Given the description of an element on the screen output the (x, y) to click on. 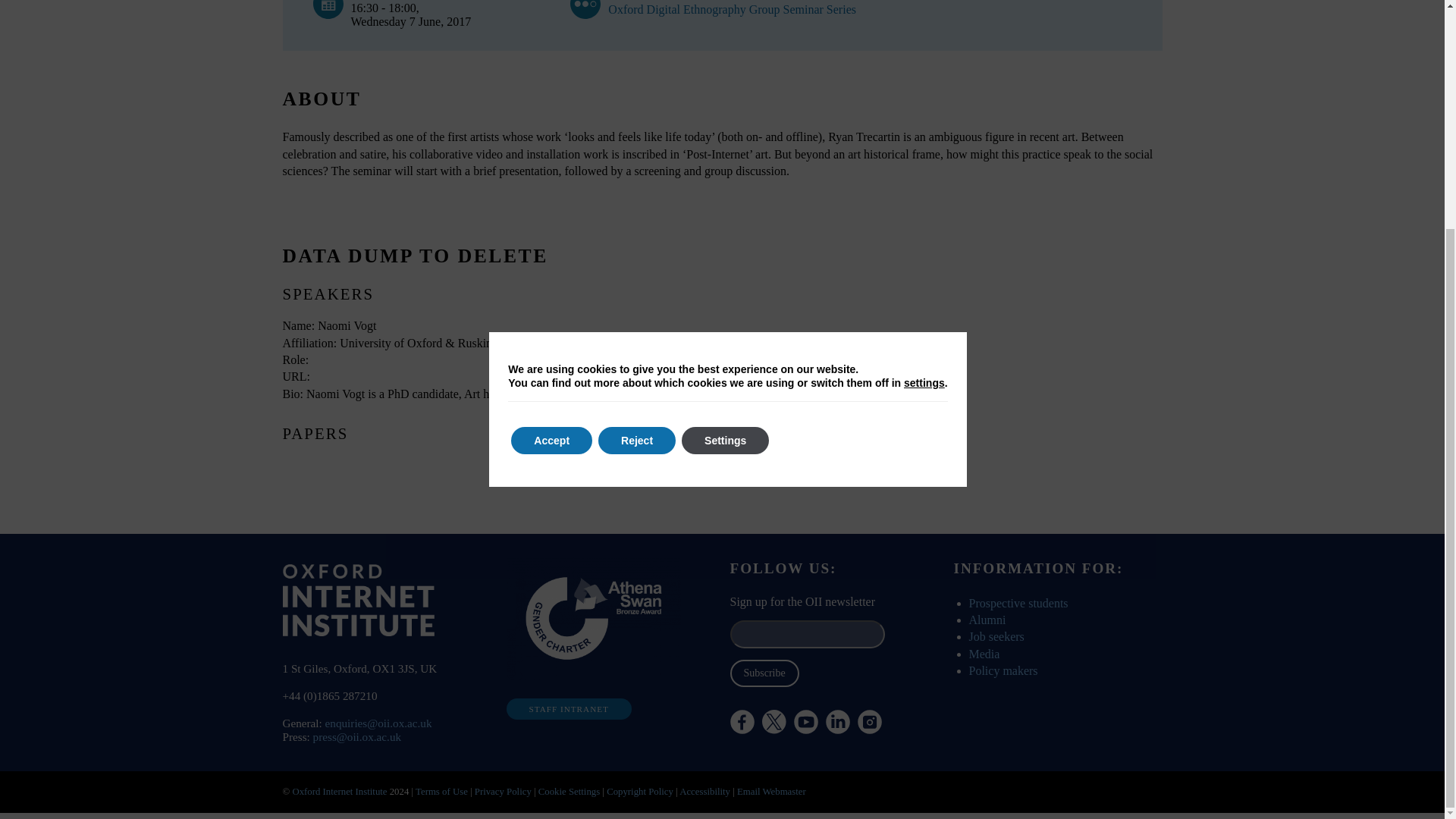
Twitter link (814, 762)
Instagram link (868, 721)
LinkedIn link (836, 721)
YouTube link (804, 721)
Subscribe (763, 673)
Facebook link (741, 721)
